Given the description of an element on the screen output the (x, y) to click on. 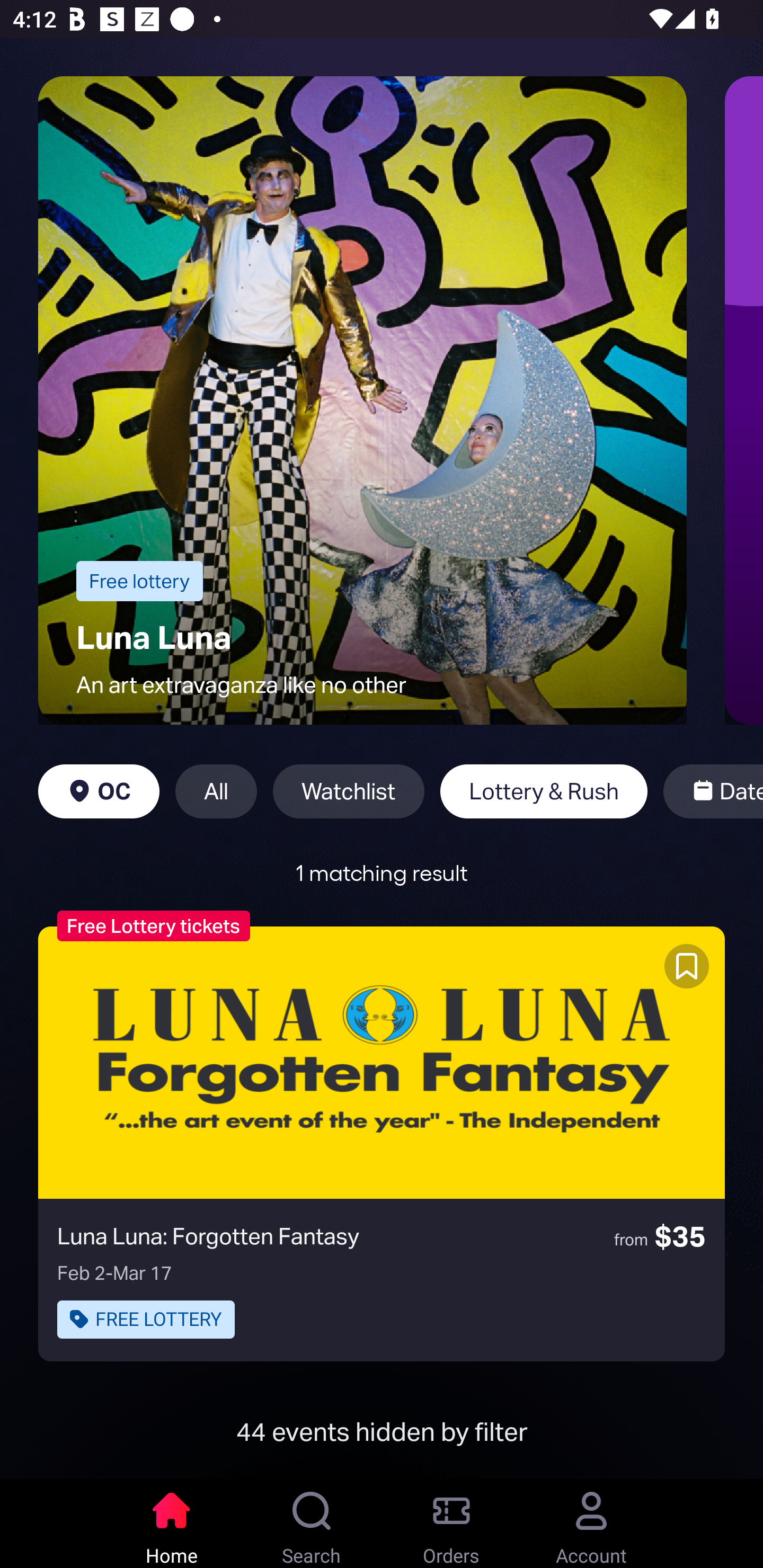
OC (98, 791)
All (216, 791)
Watchlist (348, 791)
Lottery & Rush (543, 791)
Search (311, 1523)
Orders (451, 1523)
Account (591, 1523)
